Given the description of an element on the screen output the (x, y) to click on. 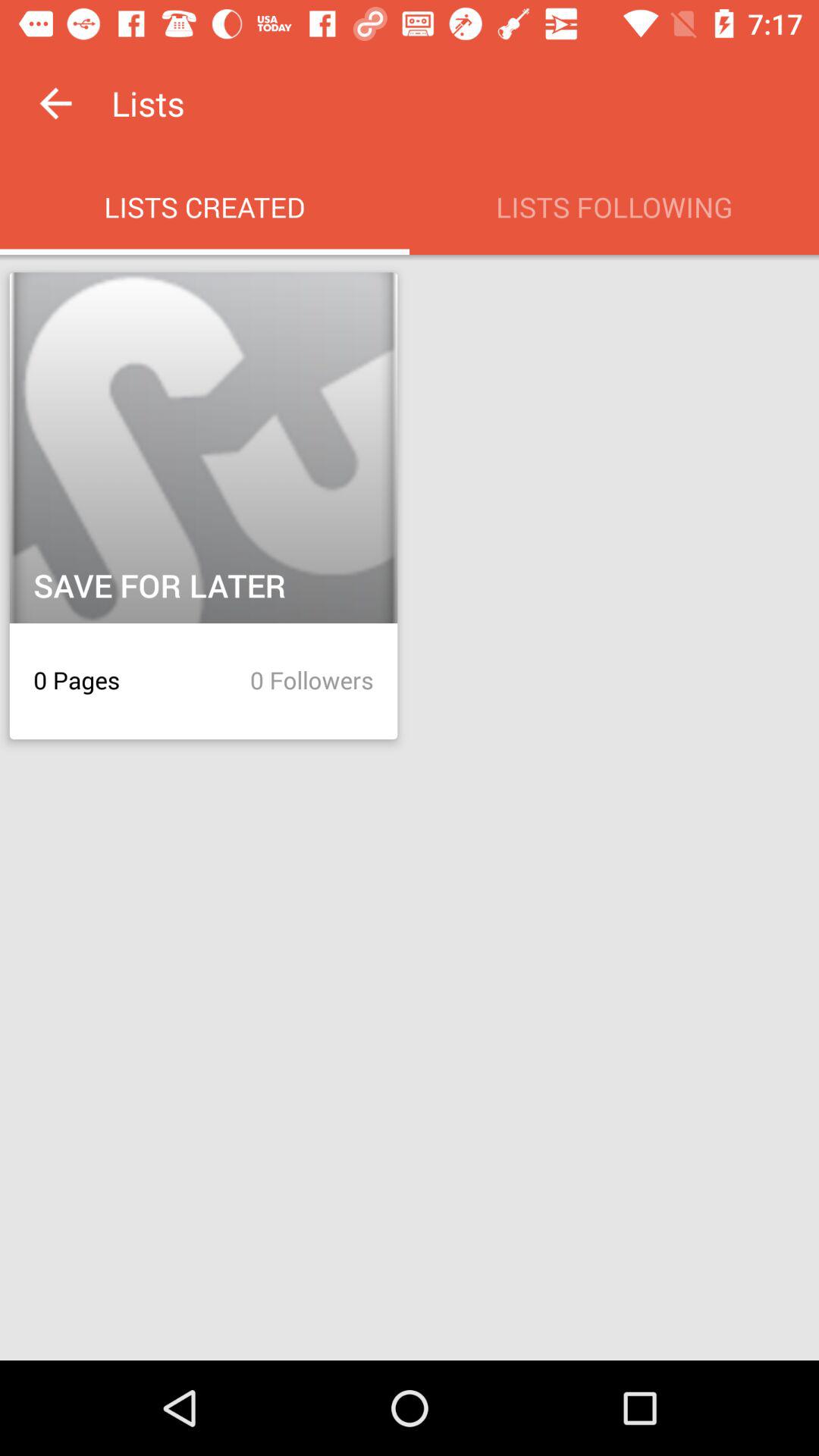
click on the image under lists created (203, 451)
